Given the description of an element on the screen output the (x, y) to click on. 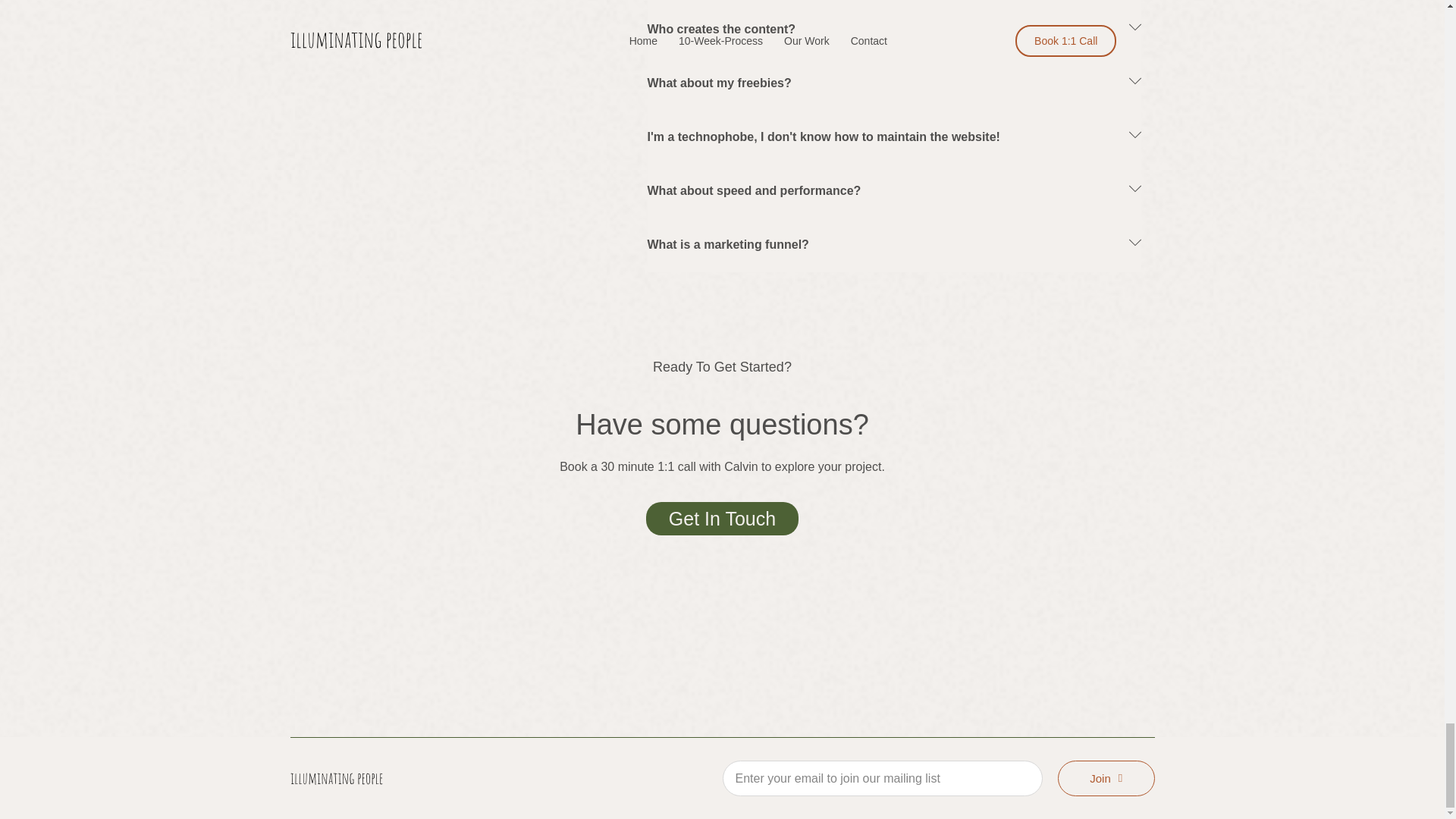
Who creates the content? (721, 29)
